Given the description of an element on the screen output the (x, y) to click on. 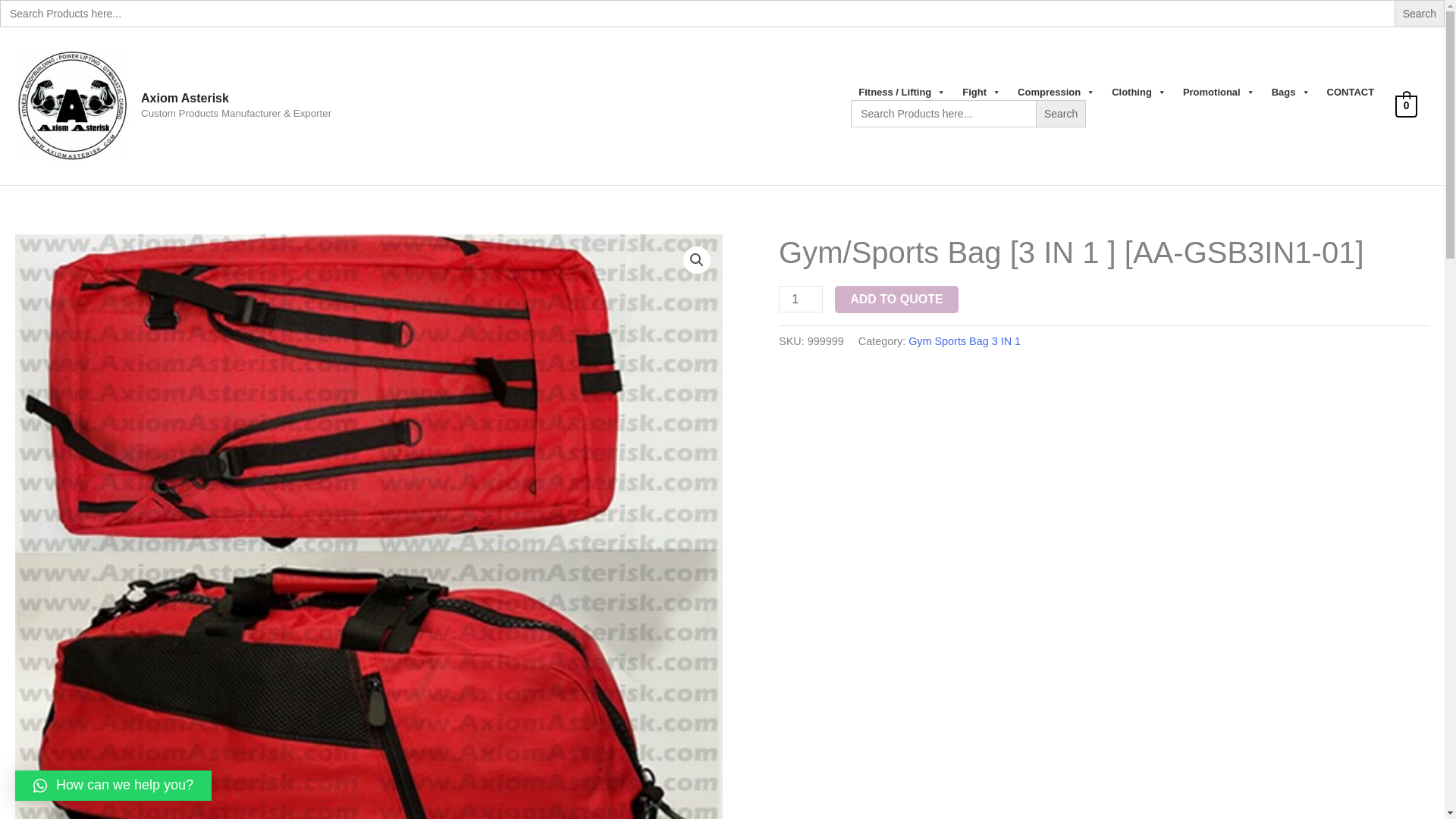
Axiom Asterisk (184, 97)
Search (1419, 13)
1 (800, 298)
Search (1060, 113)
Search (1419, 13)
Search (1060, 113)
Search (1419, 13)
